Given the description of an element on the screen output the (x, y) to click on. 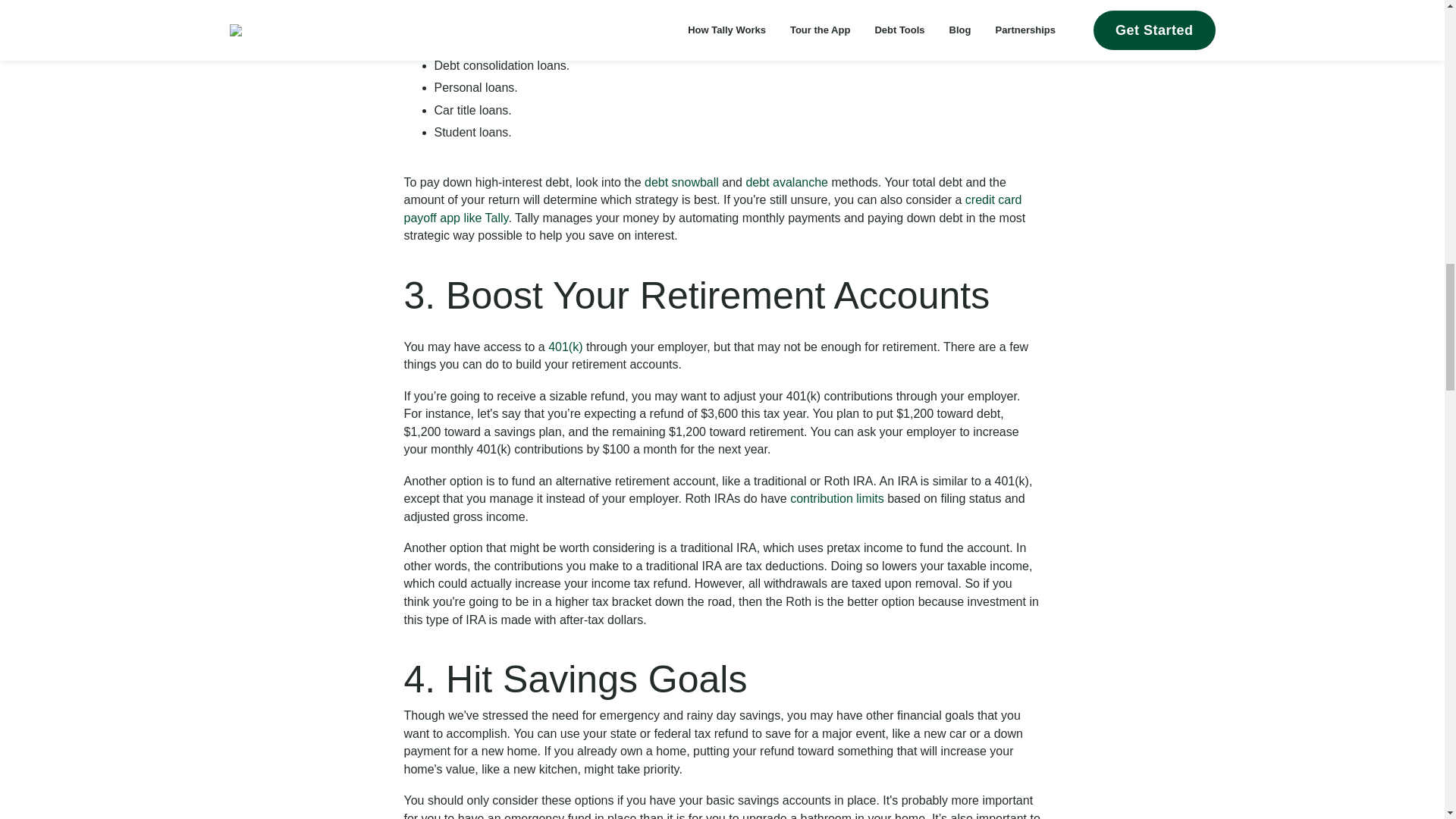
debt snowball (682, 182)
credit card payoff app like Tally (712, 208)
debt avalanche (786, 182)
contribution limits (836, 498)
